Given the description of an element on the screen output the (x, y) to click on. 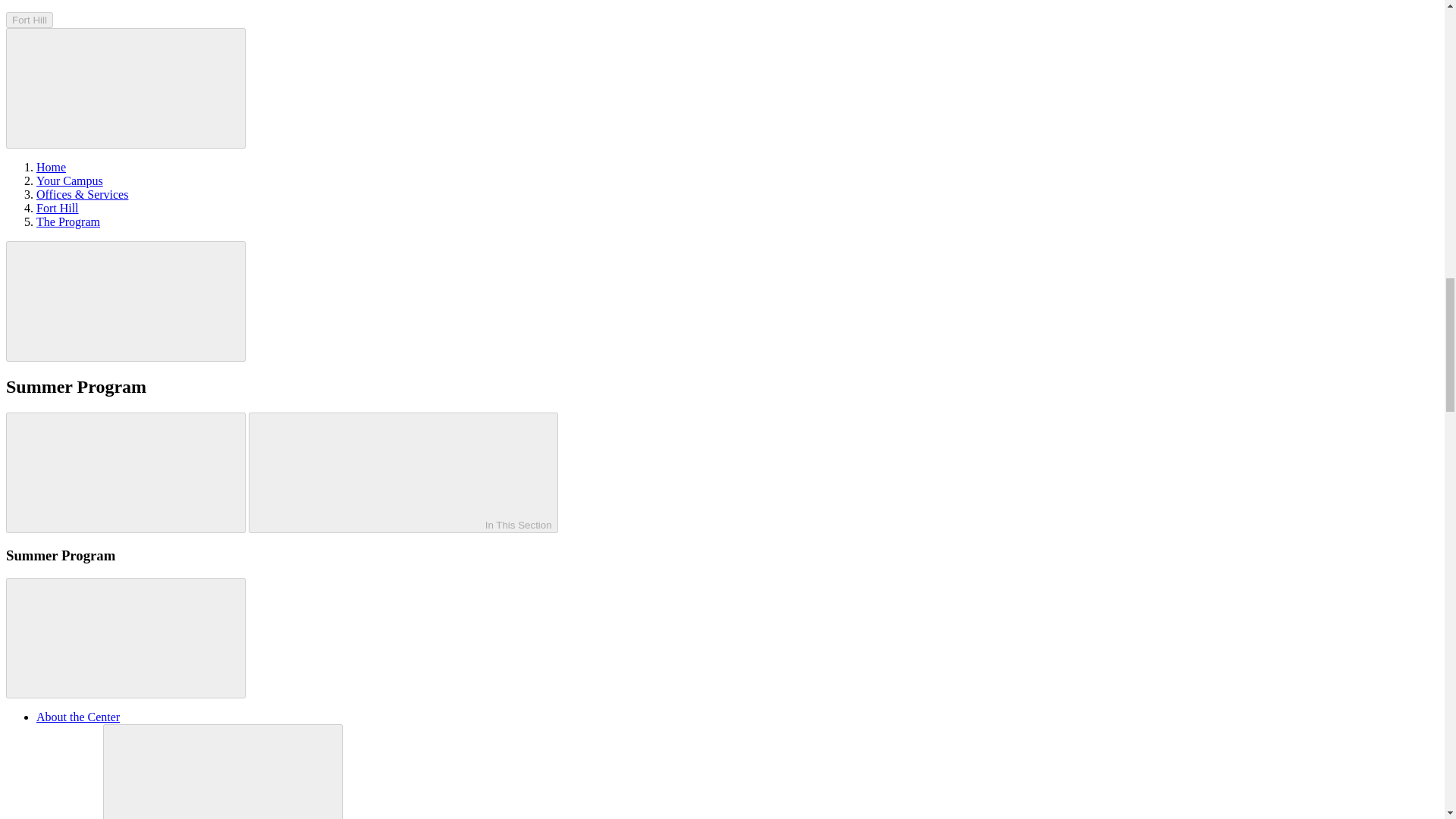
Scroll Left (125, 472)
Scroll Right (125, 300)
Scroll Left (125, 87)
